Given the description of an element on the screen output the (x, y) to click on. 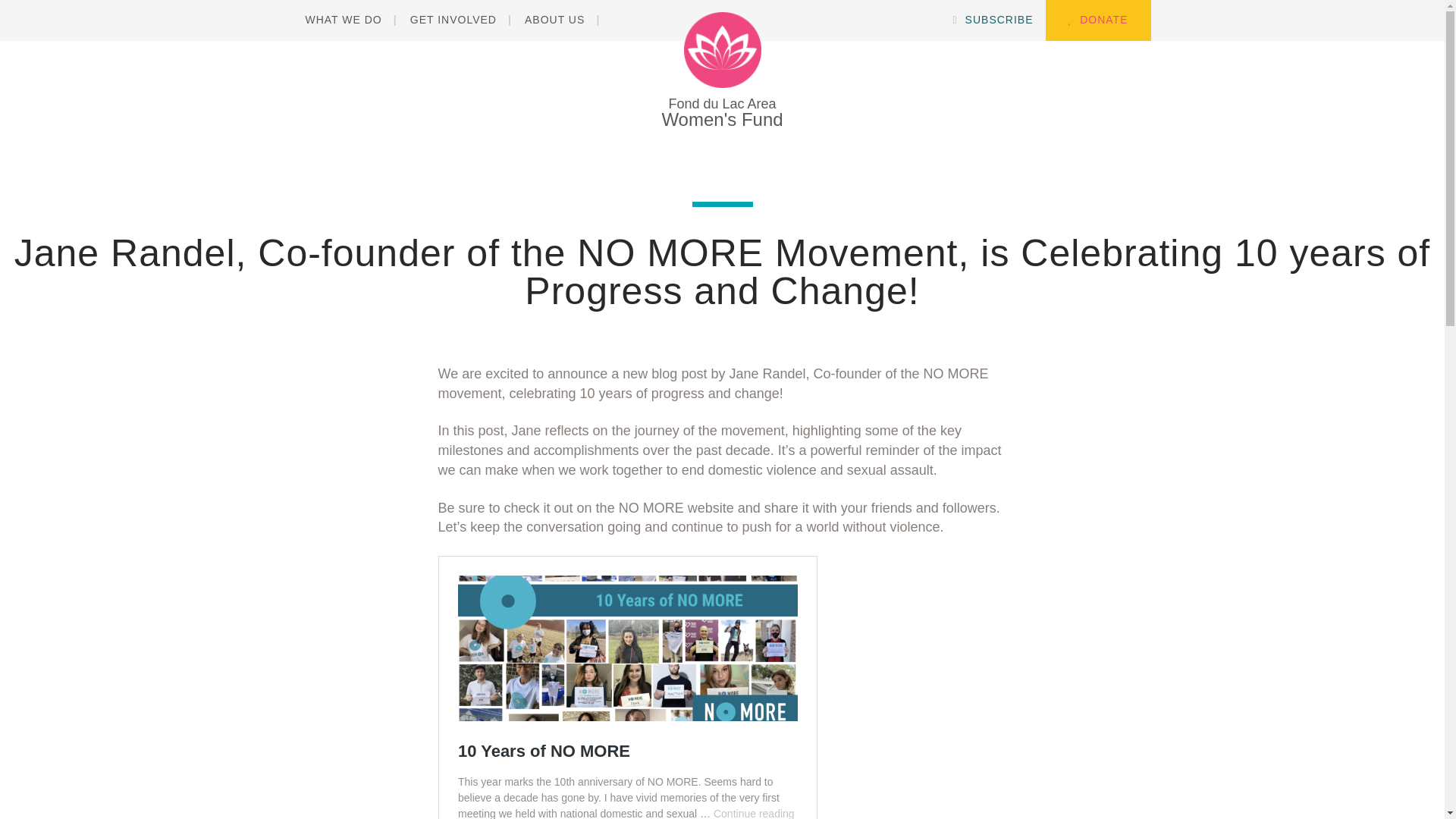
GET INVOLVED (452, 20)
WHAT WE DO (348, 20)
SUBSCRIBE (992, 20)
ABOUT US (722, 70)
DONATE (554, 20)
